Given the description of an element on the screen output the (x, y) to click on. 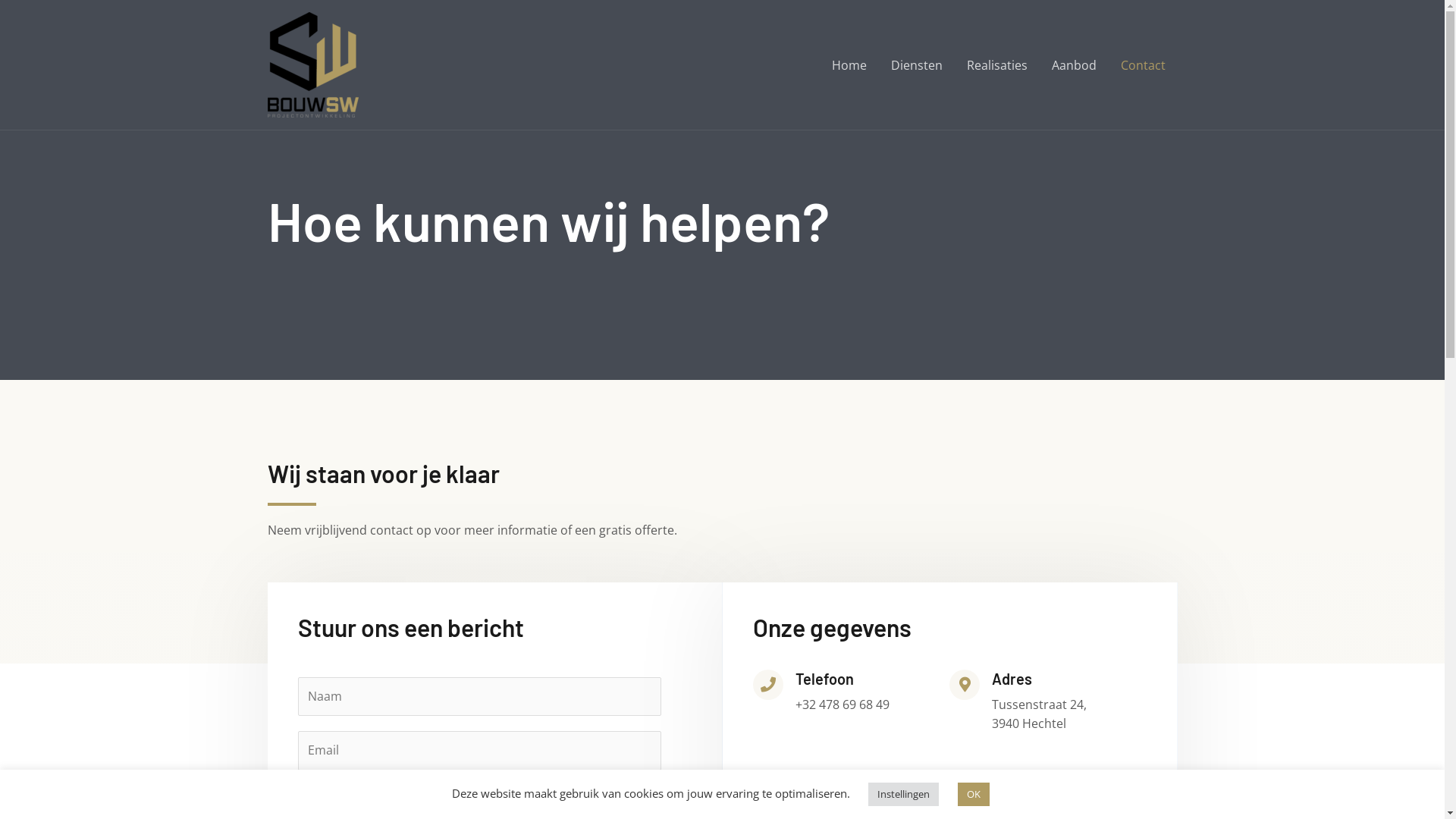
Contact Element type: text (1142, 64)
Realisaties Element type: text (995, 64)
Home Element type: text (848, 64)
Diensten Element type: text (915, 64)
Instellingen Element type: text (902, 794)
OK Element type: text (972, 794)
Aanbod Element type: text (1072, 64)
